Given the description of an element on the screen output the (x, y) to click on. 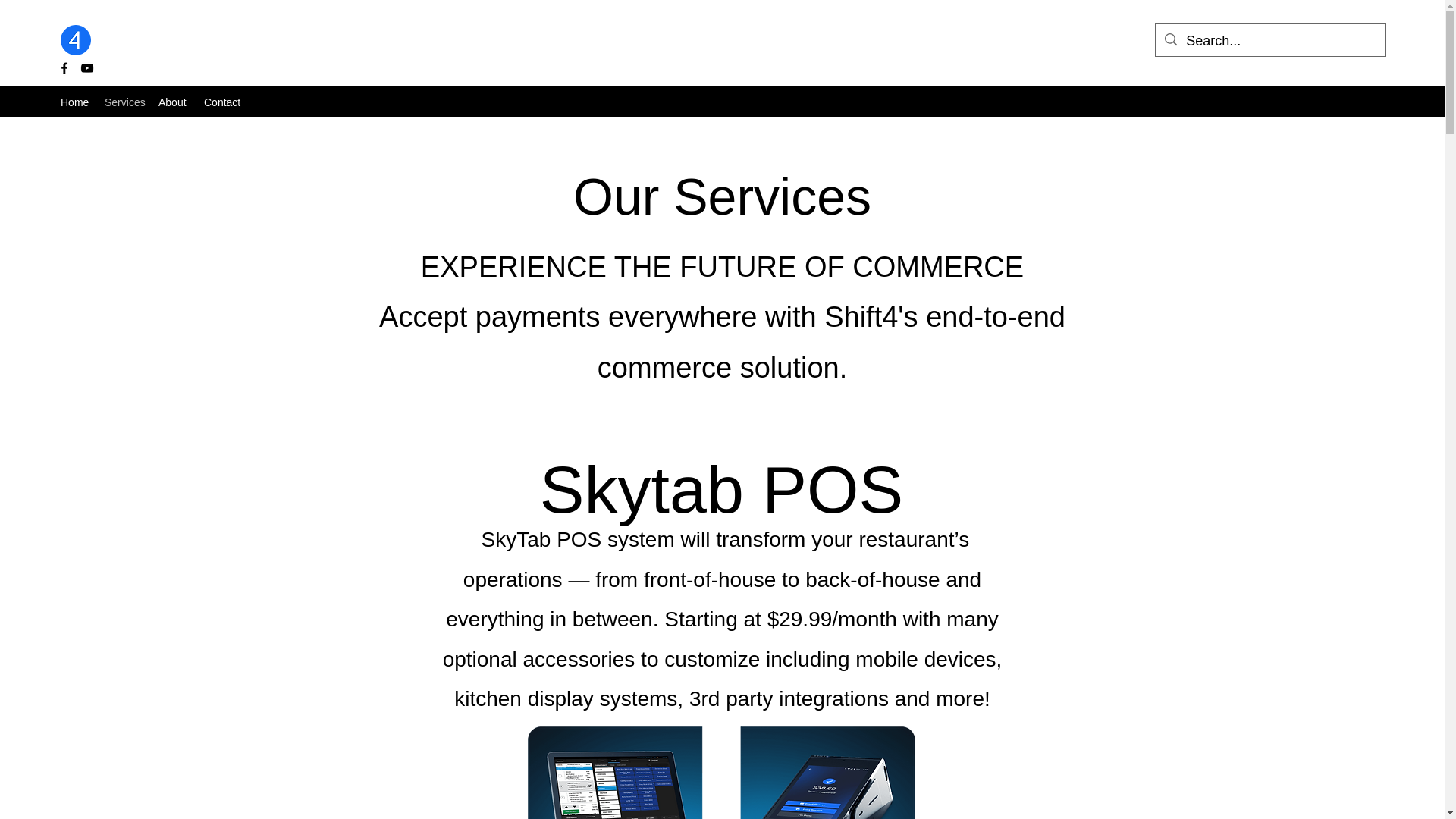
Services (124, 101)
About (173, 101)
Contact (222, 101)
Home (74, 101)
